Given the description of an element on the screen output the (x, y) to click on. 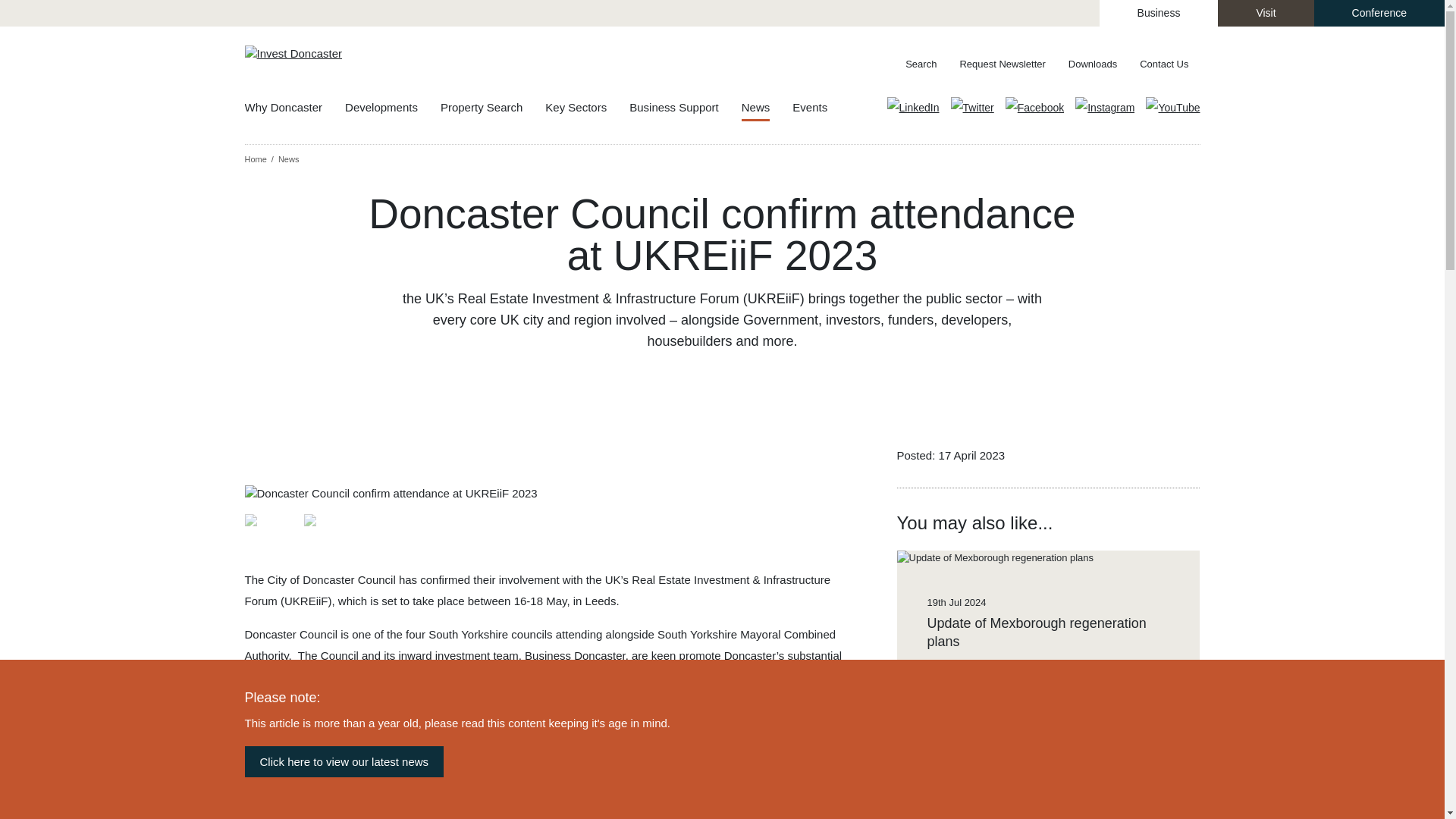
Property Search (492, 108)
Search (913, 64)
Why Doncaster (294, 108)
Developments (393, 108)
Request Newsletter (1002, 64)
Downloads (1092, 64)
Business (1158, 13)
Visit (1265, 13)
Key Sectors (586, 108)
Contact Us (1163, 64)
